Given the description of an element on the screen output the (x, y) to click on. 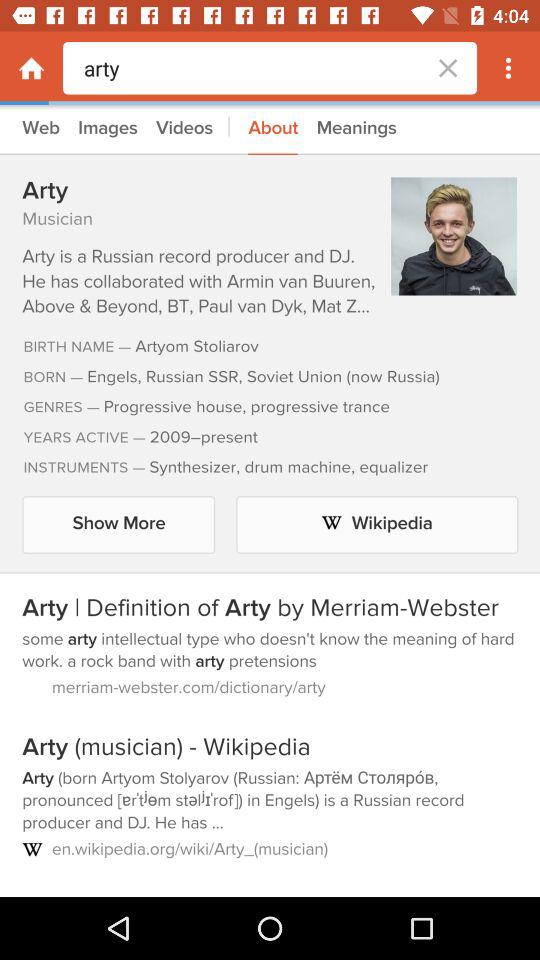
webpage view (270, 501)
